Given the description of an element on the screen output the (x, y) to click on. 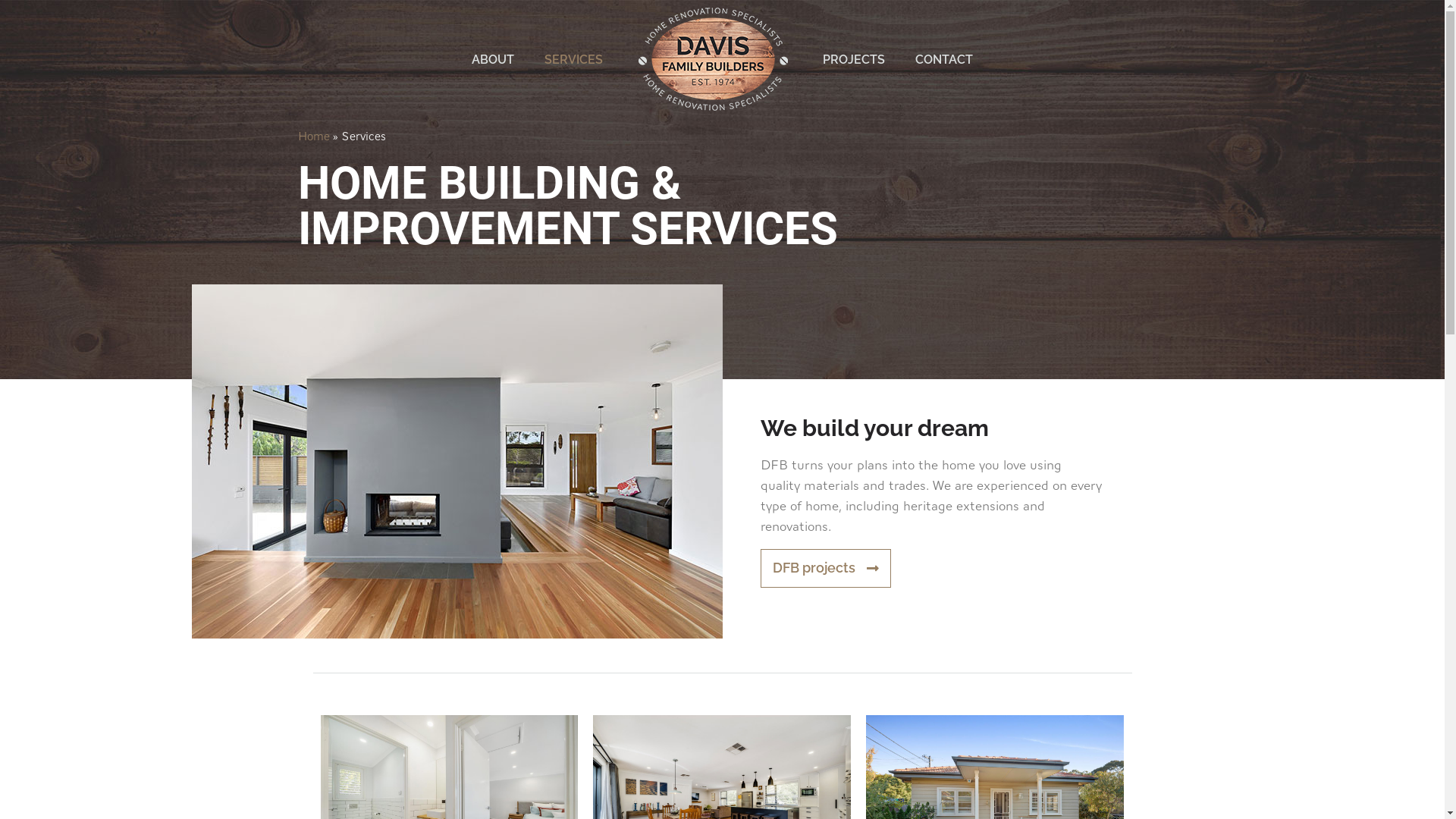
DFB projects Element type: text (824, 568)
CONTACT Element type: text (944, 58)
PROJECTS Element type: text (853, 58)
ABOUT Element type: text (492, 58)
SERVICES Element type: text (573, 58)
Home Element type: text (313, 136)
